Given the description of an element on the screen output the (x, y) to click on. 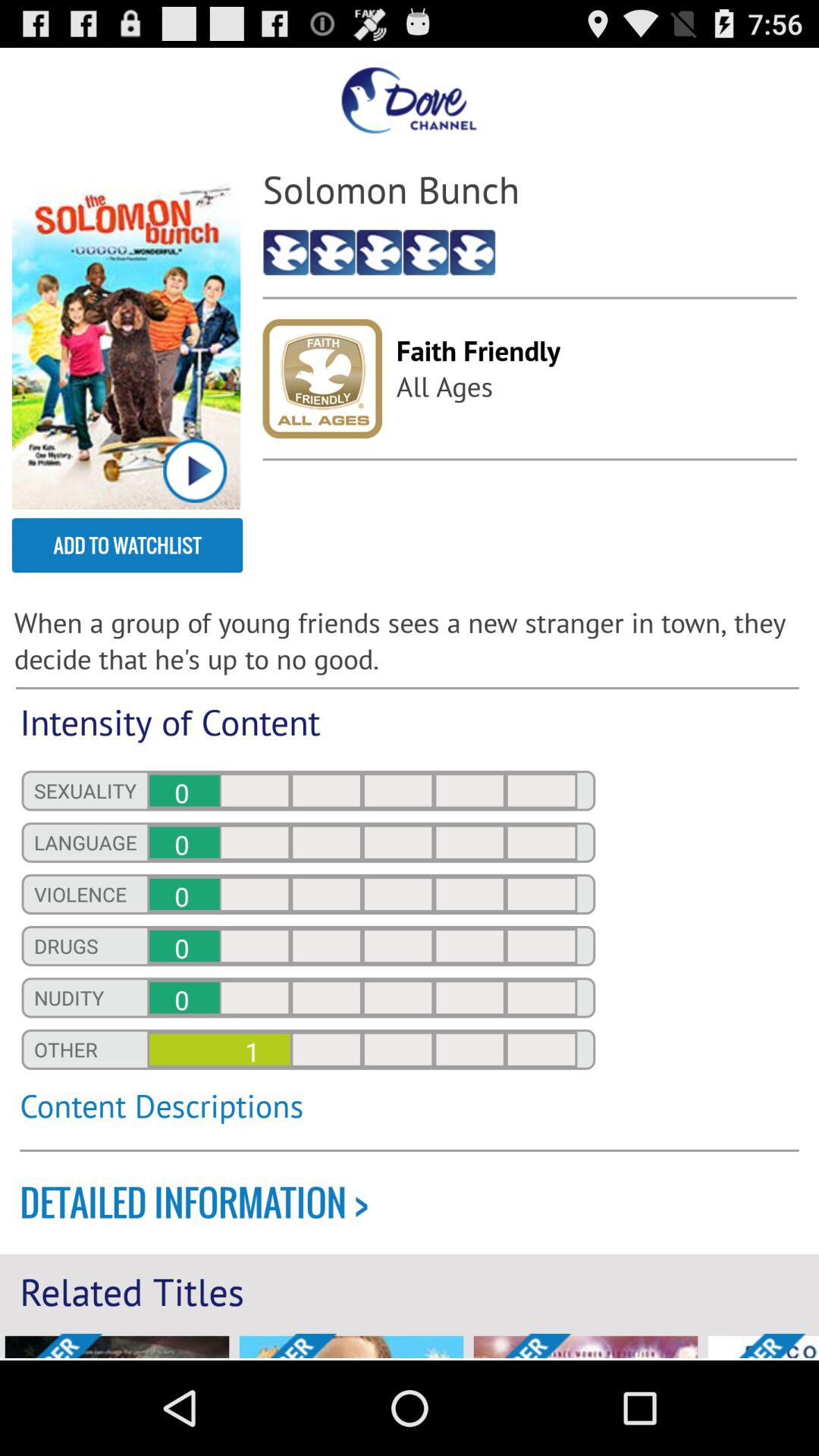
choose add to watchlist icon (126, 545)
